Given the description of an element on the screen output the (x, y) to click on. 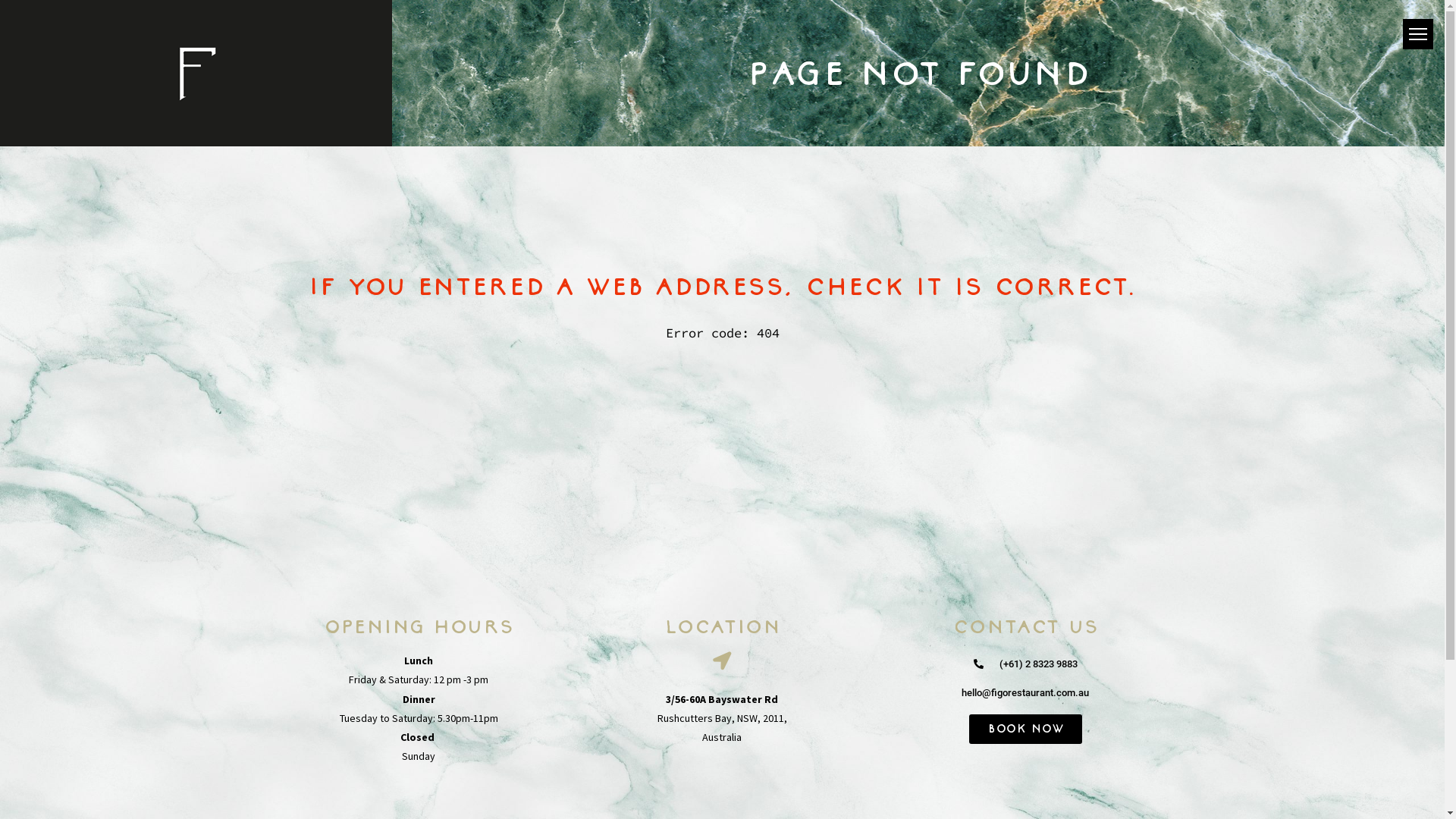
Book Now Element type: text (1025, 728)
(+61) 2 8323 9883 Element type: text (1025, 663)
hello@figorestaurant.com.au Element type: text (1025, 692)
